Given the description of an element on the screen output the (x, y) to click on. 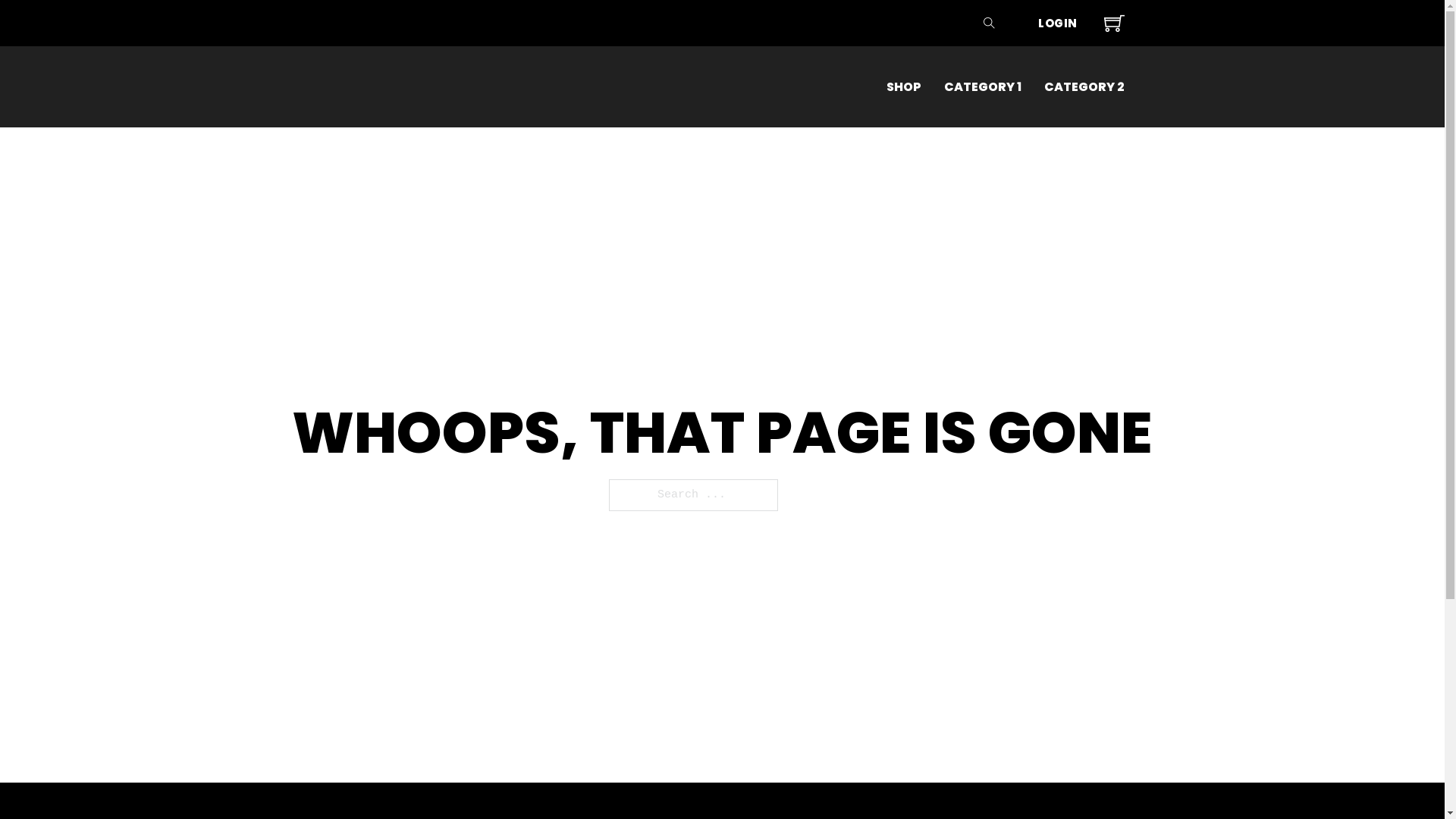
CATEGORY 1 Element type: text (981, 85)
SHOP Element type: text (902, 85)
LOGIN Element type: text (1057, 22)
CATEGORY 2 Element type: text (1083, 85)
